Given the description of an element on the screen output the (x, y) to click on. 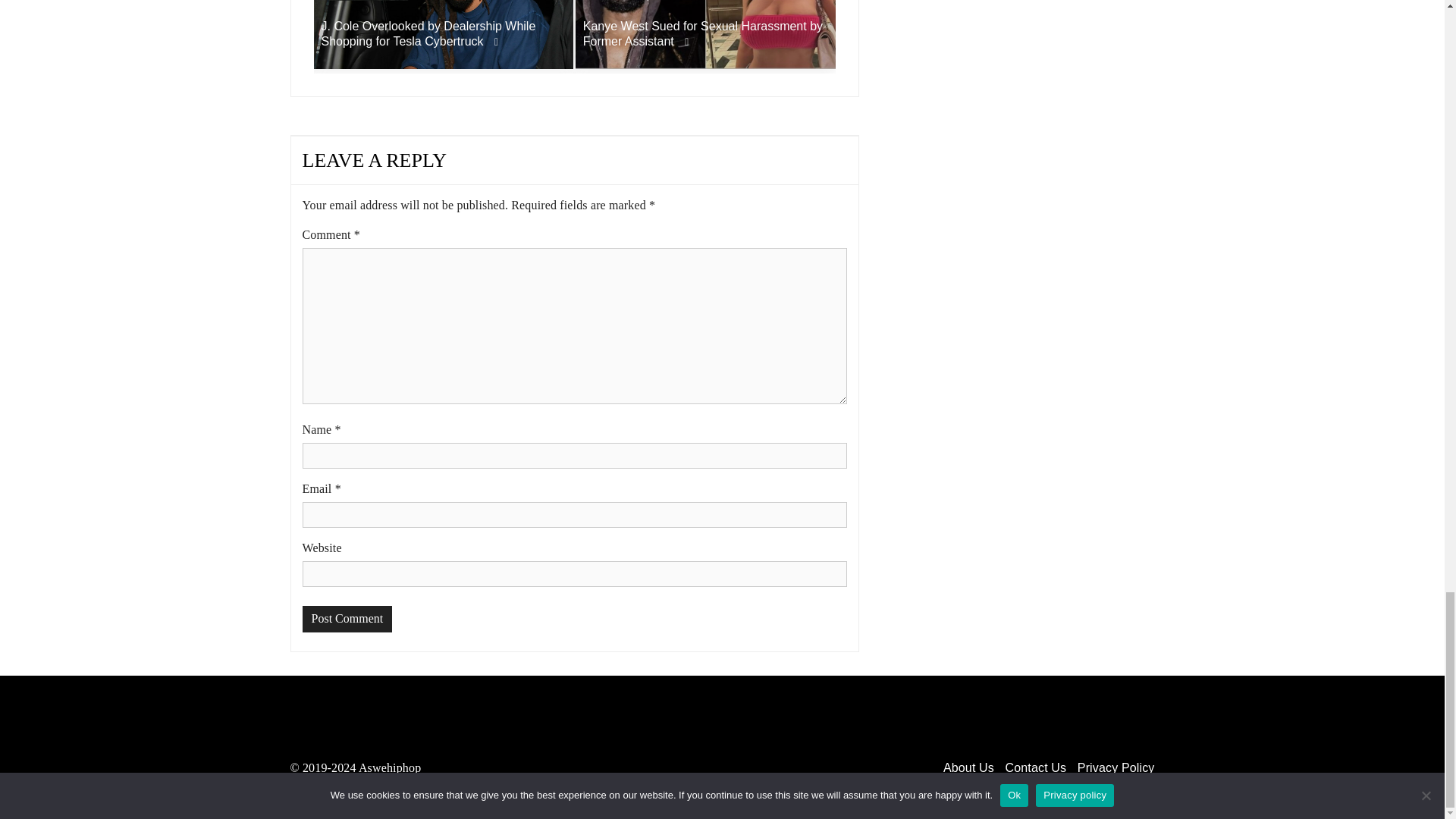
Post Comment (346, 619)
